Given the description of an element on the screen output the (x, y) to click on. 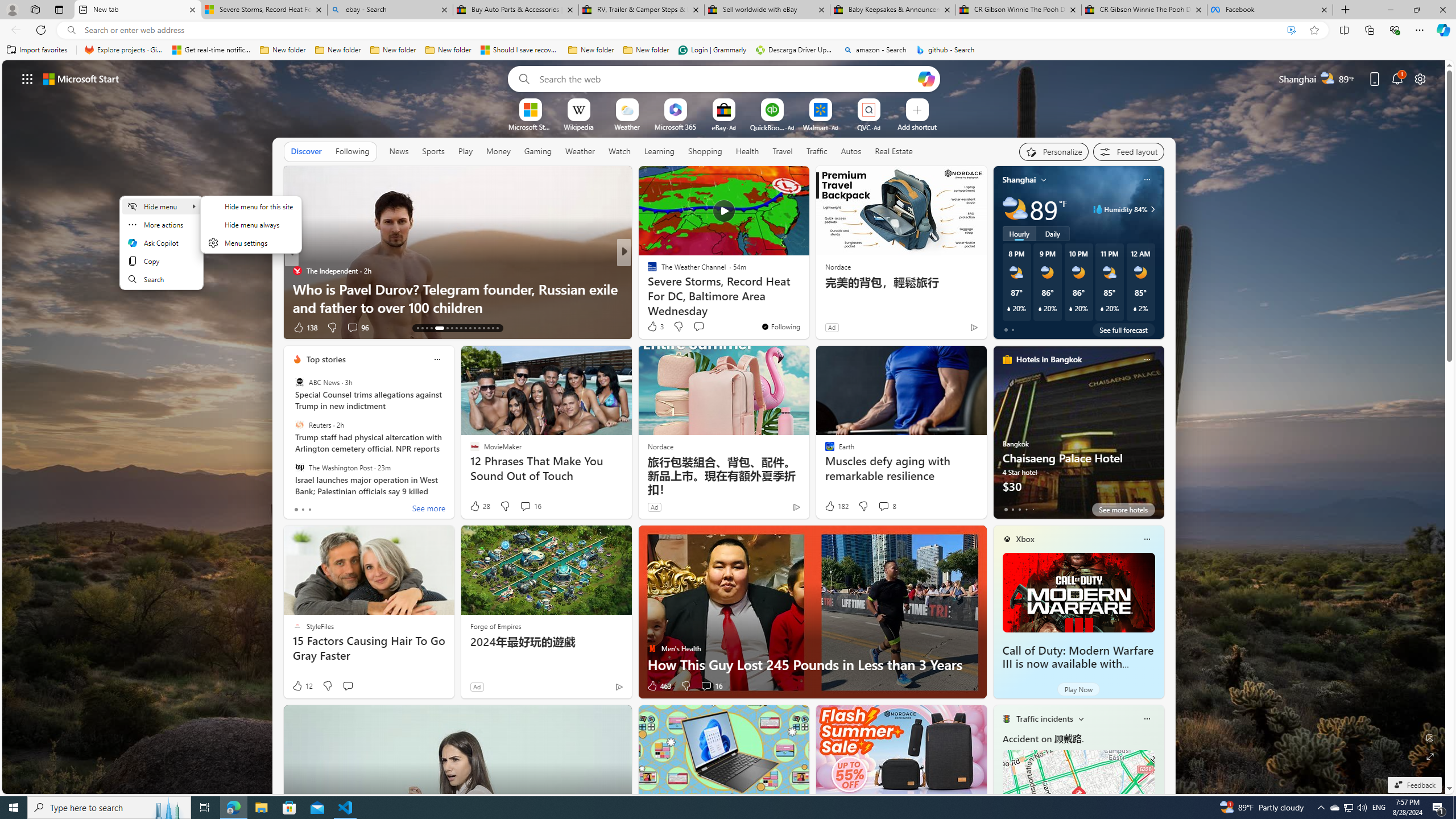
View comments 96 Comment (357, 327)
116 Like (654, 327)
353 Like (654, 327)
Learning (659, 151)
Traffic Title Traffic Light (1005, 718)
AutomationID: tab-18 (446, 328)
Forge of Empires (495, 625)
Autos (851, 151)
News (398, 151)
Hide this story (774, 179)
